Given the description of an element on the screen output the (x, y) to click on. 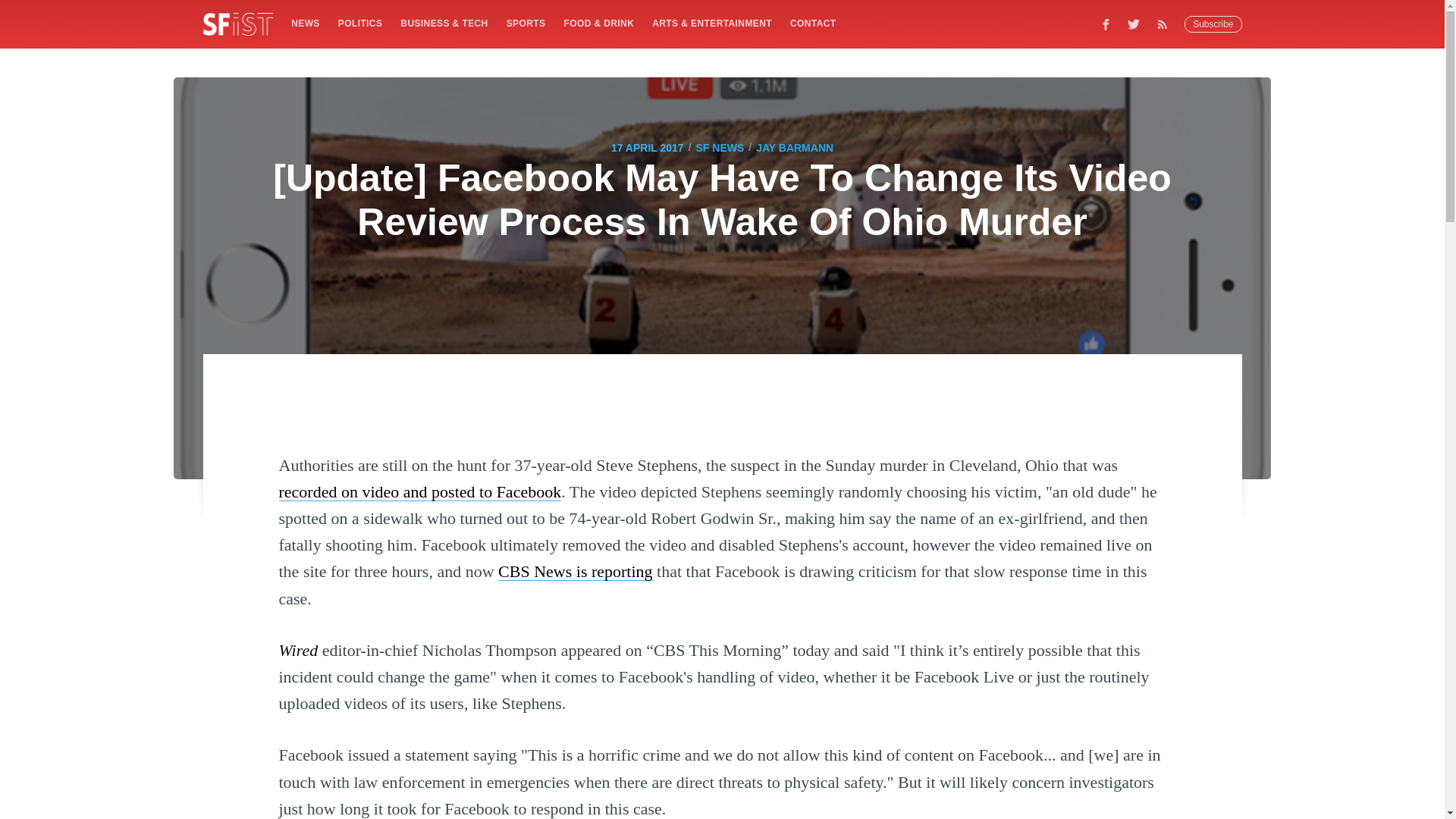
POLITICS (360, 23)
RSS (1166, 23)
CONTACT (812, 23)
SF NEWS (719, 147)
Subscribe (1213, 23)
Twitter (1133, 23)
JAY BARMANN (793, 147)
SPORTS (525, 23)
Facebook (1106, 23)
recorded on video and posted to Facebook (420, 491)
